Given the description of an element on the screen output the (x, y) to click on. 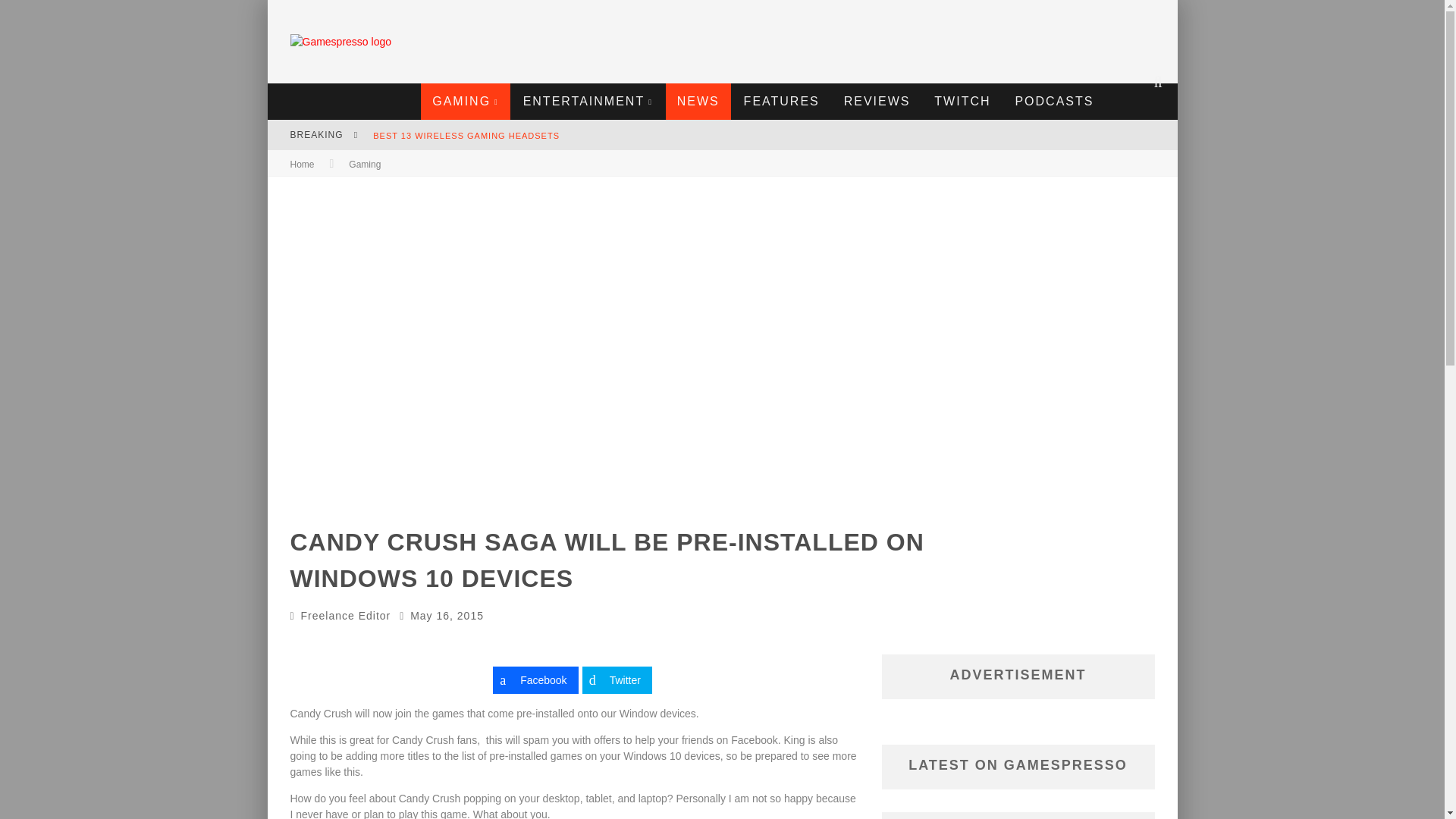
ENTERTAINMENT (587, 101)
Share on Twitter (617, 679)
GAMING (465, 101)
Best 13 Wireless Gaming Headsets (465, 135)
View all posts in Gaming (364, 163)
Share on Facebook (535, 679)
